Given the description of an element on the screen output the (x, y) to click on. 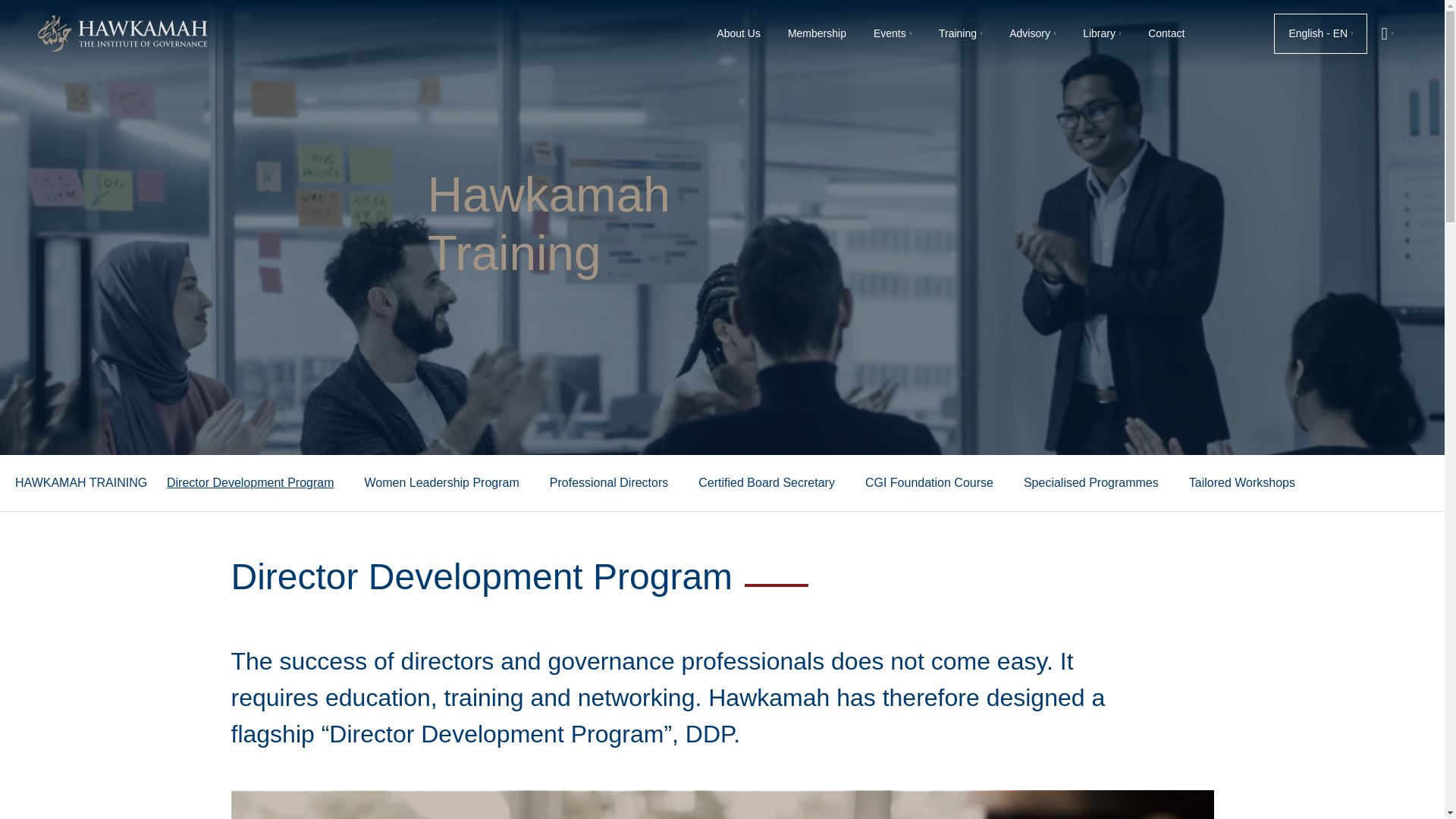
Contact (1166, 33)
About Us (738, 33)
Library (1101, 33)
Membership (817, 33)
Events (892, 33)
Training (959, 33)
English - EN (1320, 33)
Advisory (1031, 33)
